Given the description of an element on the screen output the (x, y) to click on. 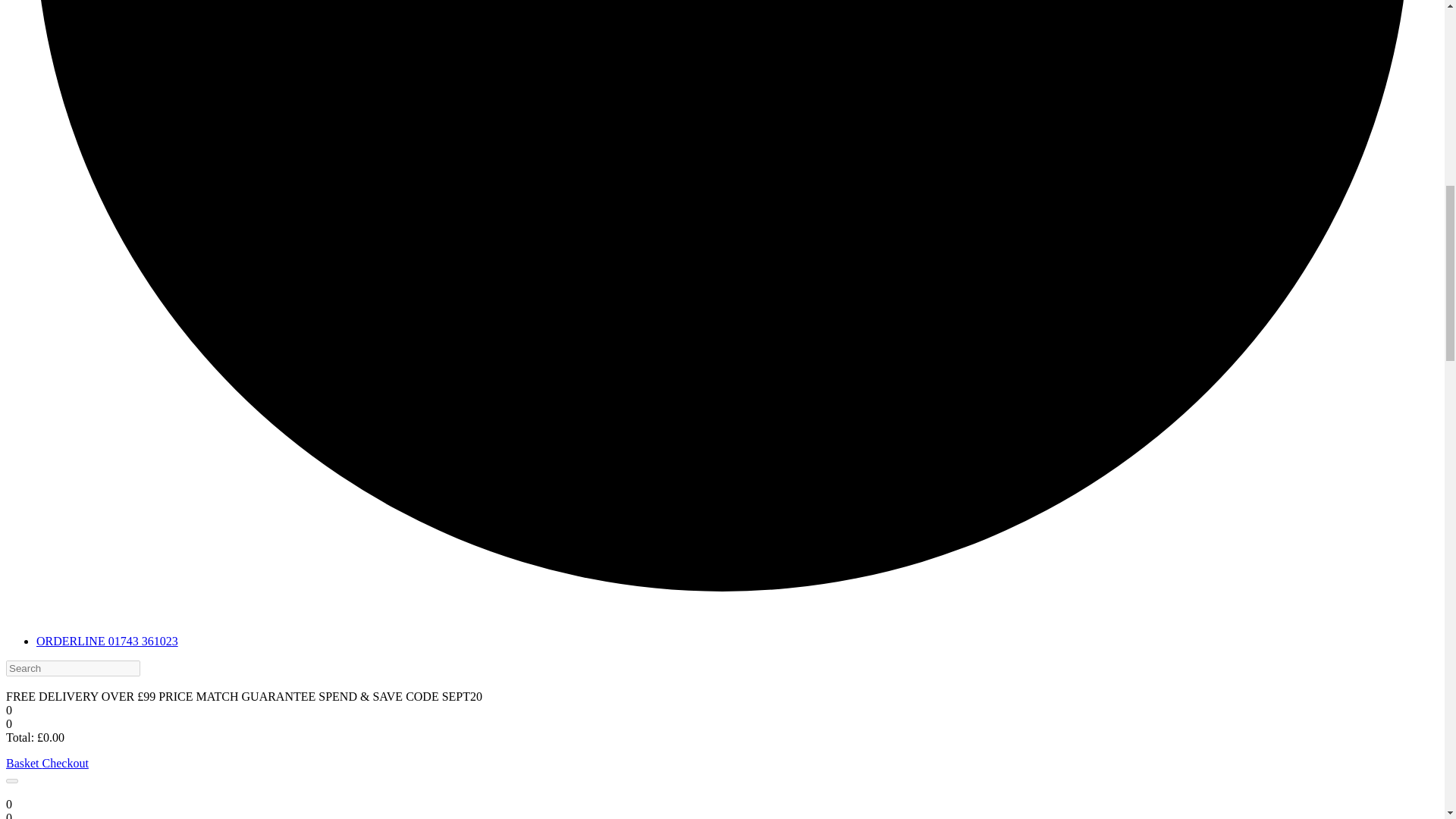
Basket (23, 762)
ORDERLINE 01743 361023 (106, 640)
Checkout (65, 762)
